Given the description of an element on the screen output the (x, y) to click on. 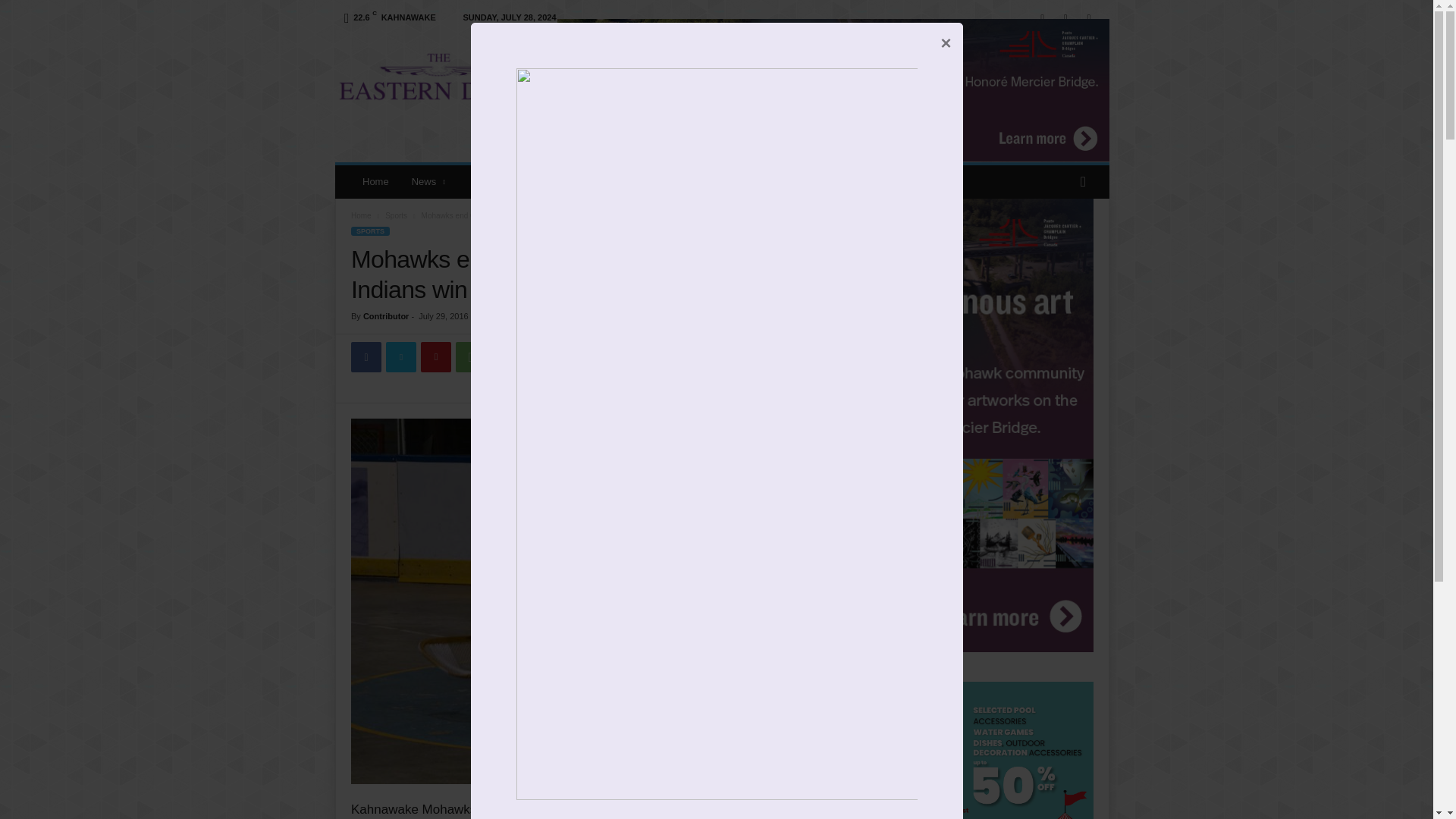
Twitter (400, 357)
Facebook (365, 357)
WhatsApp (470, 357)
Contact (536, 182)
The Eastern Door (437, 74)
Place an Ad (602, 182)
Home (360, 215)
Home (375, 182)
News (430, 182)
About (484, 182)
Kahnawake Telephone Directory (852, 182)
Contributor (385, 316)
Pinterest (435, 357)
View all posts in Sports (396, 215)
Sports (396, 215)
